Given the description of an element on the screen output the (x, y) to click on. 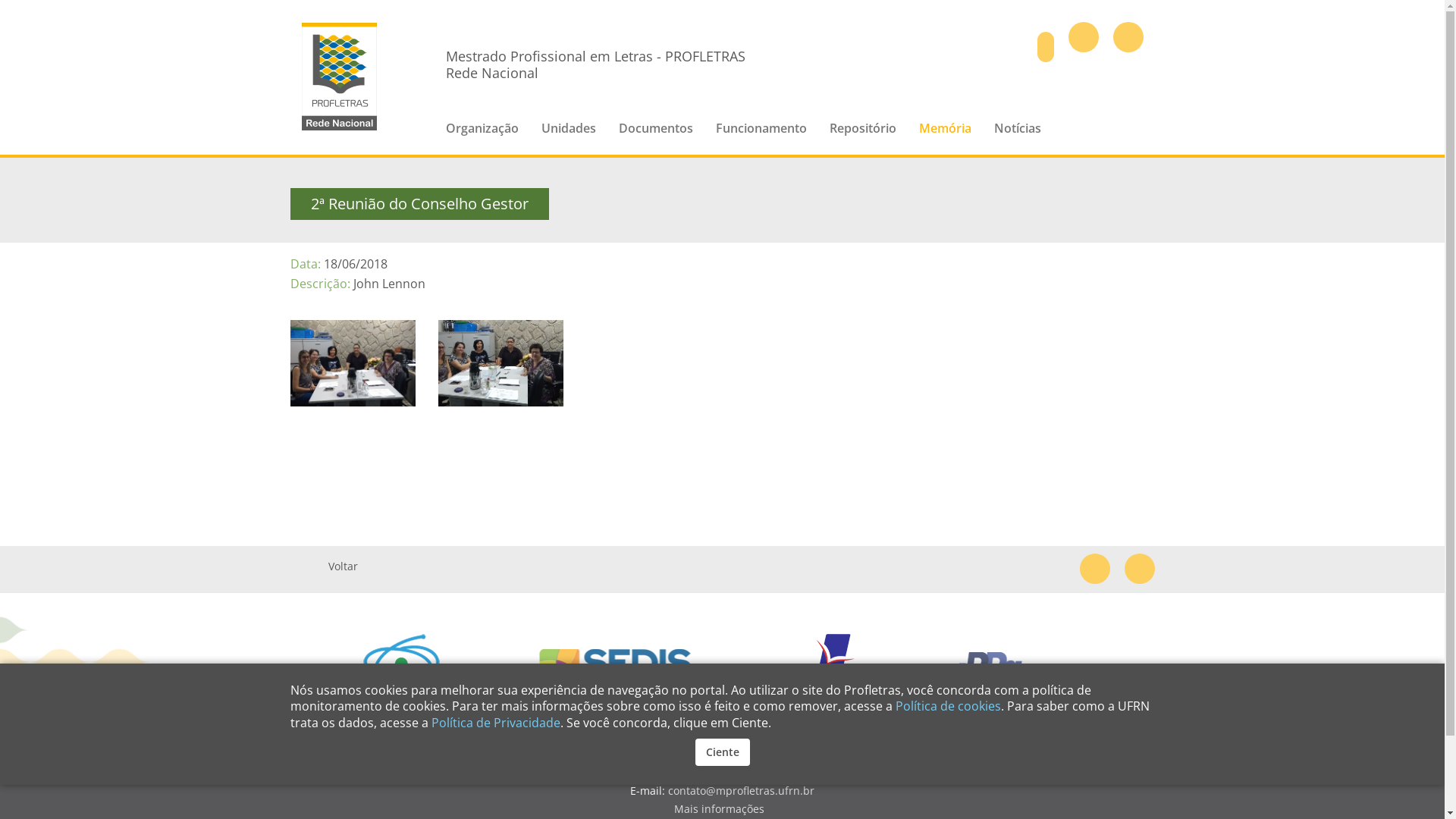
Acesse o portal da PPG/UFRN Element type: hover (1053, 668)
Acesse o portal da CAPES Element type: hover (468, 668)
Funcionamento Element type: text (760, 137)
contato@mprofletras.ufrn.br Element type: text (741, 790)
Unidades Element type: text (568, 137)
Documentos Element type: text (655, 137)
Acesse o portal da SEDIS/UFRN Element type: hover (650, 668)
Ciente Element type: text (721, 751)
Acesse o portal do DLet/UFRN Element type: hover (854, 667)
Acesse o portal do CCHLA/UFRN Element type: hover (305, 668)
